Given the description of an element on the screen output the (x, y) to click on. 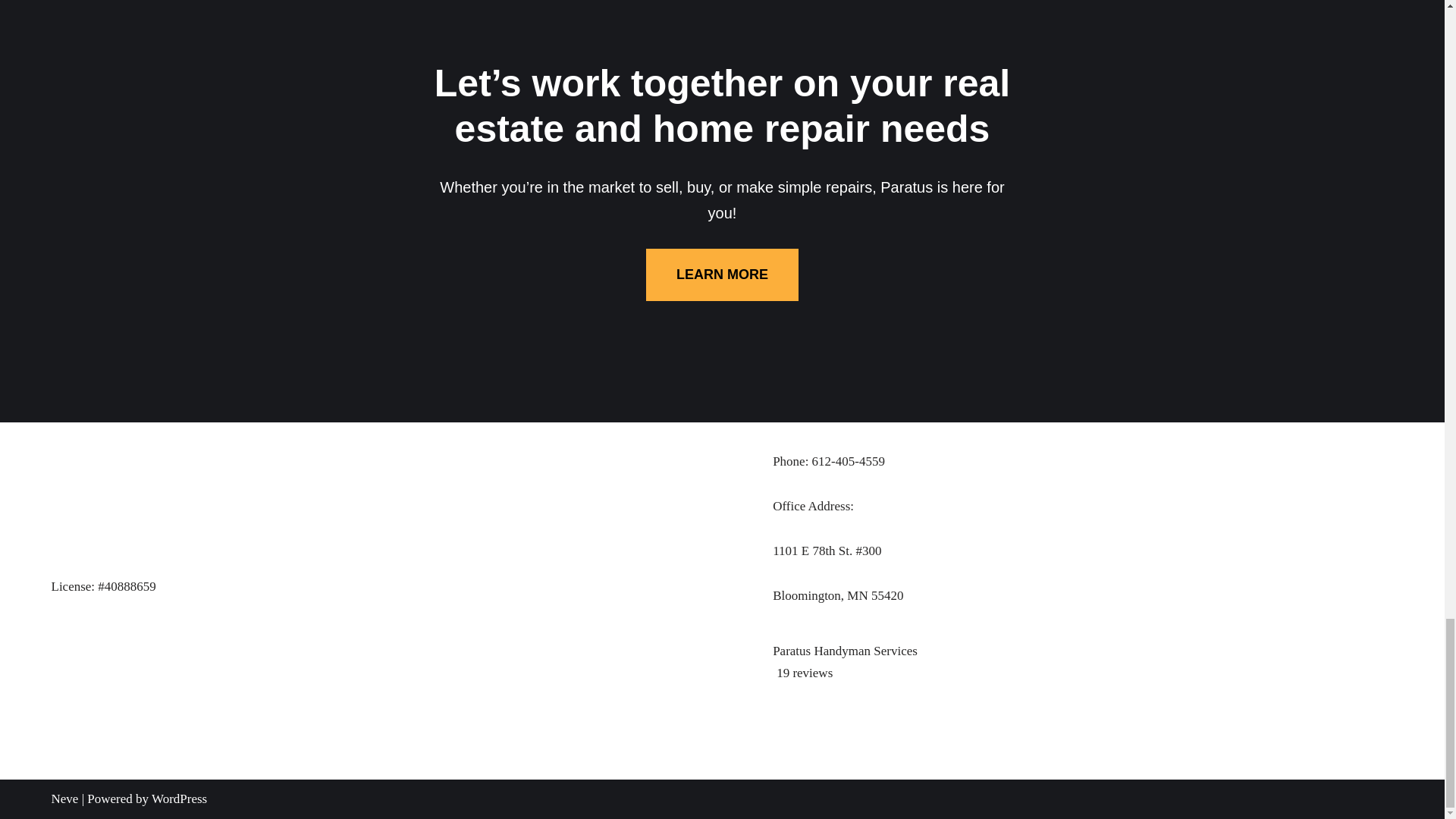
WordPress (178, 798)
Neve (64, 798)
LEARN MORE (721, 274)
Paratus Handyman Services (1083, 660)
